Given the description of an element on the screen output the (x, y) to click on. 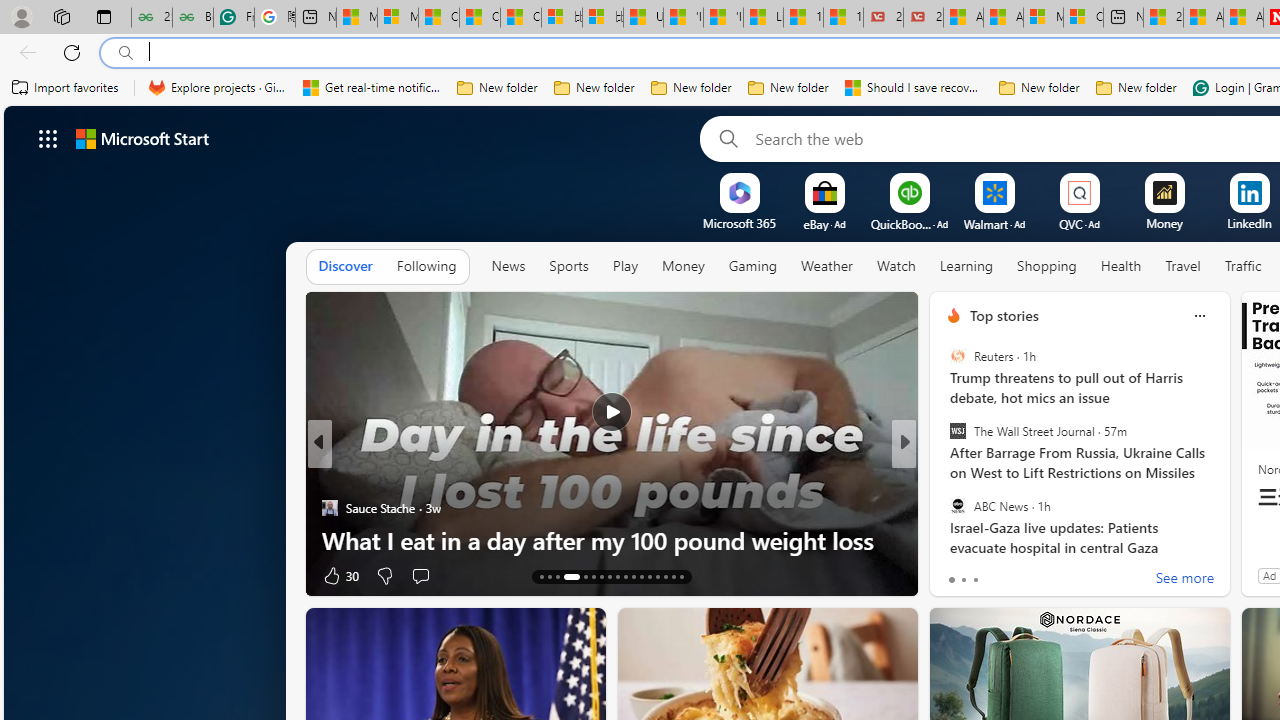
Money (682, 267)
Dislike (999, 574)
tab-0 (950, 579)
View comments 4 Comment (1035, 574)
Health (1121, 265)
AutomationID: tab-21 (617, 576)
